Given the description of an element on the screen output the (x, y) to click on. 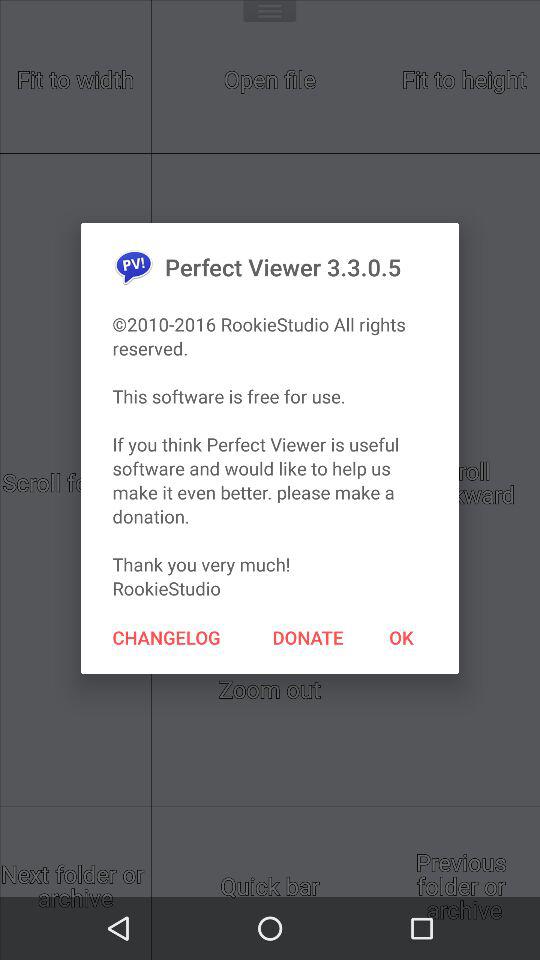
open the item next to the changelog icon (307, 637)
